Given the description of an element on the screen output the (x, y) to click on. 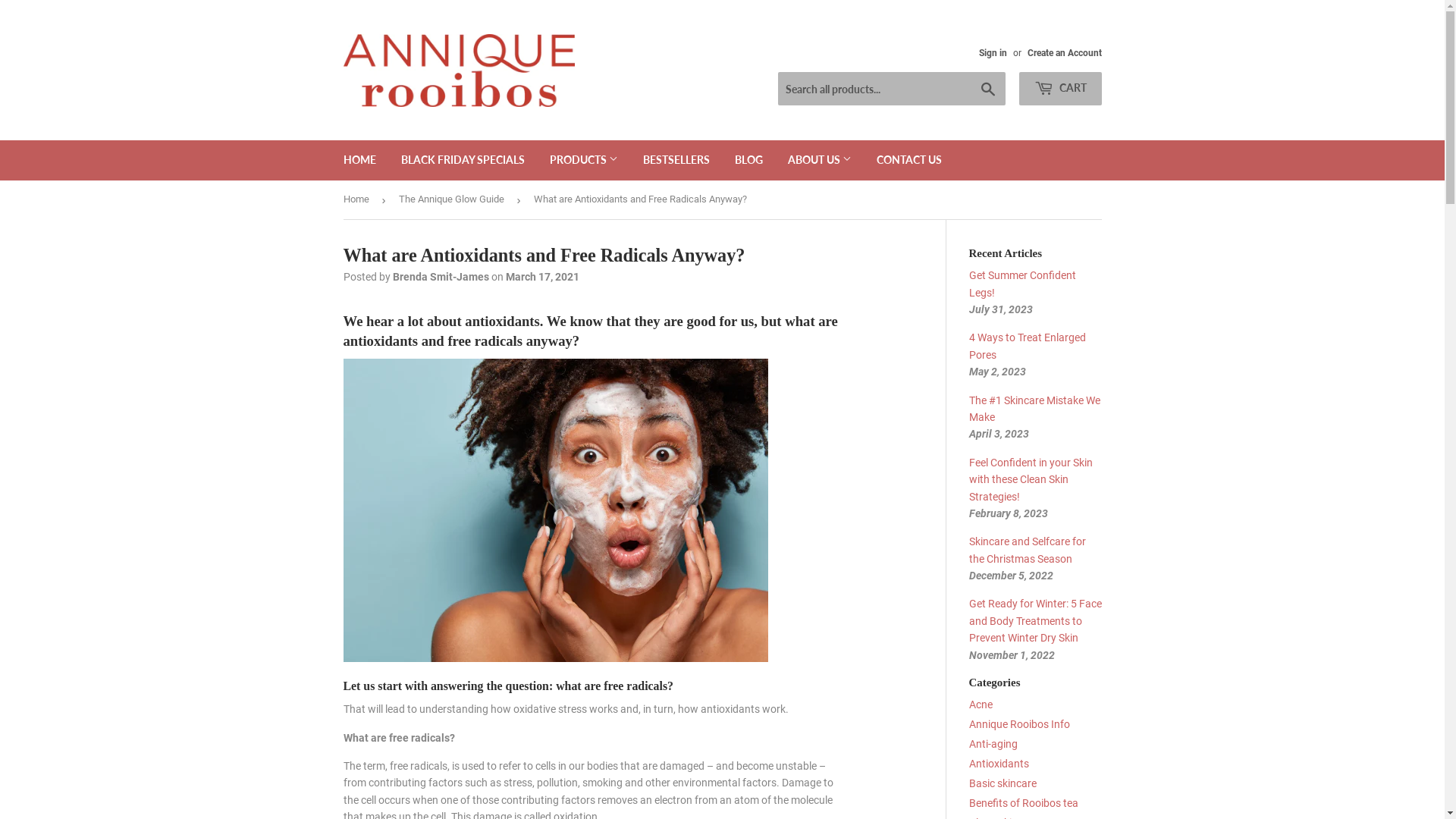
PRODUCTS Element type: text (583, 159)
Get Summer Confident Legs! Element type: text (1022, 283)
Acne Element type: text (980, 704)
BESTSELLERS Element type: text (675, 159)
BLACK FRIDAY SPECIALS Element type: text (462, 159)
The #1 Skincare Mistake We Make Element type: text (1034, 408)
Anti-aging Element type: text (993, 743)
Home Element type: text (357, 199)
ABOUT US Element type: text (819, 159)
CONTACT US Element type: text (908, 159)
4 Ways to Treat Enlarged Pores Element type: text (1027, 345)
Basic skincare Element type: text (1002, 783)
Search Element type: text (987, 89)
Skincare and Selfcare for the Christmas Season Element type: text (1027, 549)
Create an Account Element type: text (1063, 52)
Antioxidants Element type: text (999, 763)
Benefits of Rooibos tea Element type: text (1023, 803)
The Annique Glow Guide Element type: text (453, 199)
Sign in Element type: text (992, 52)
CART Element type: text (1060, 88)
HOME Element type: text (359, 159)
BLOG Element type: text (748, 159)
Annique Rooibos Info Element type: text (1019, 724)
